Given the description of an element on the screen output the (x, y) to click on. 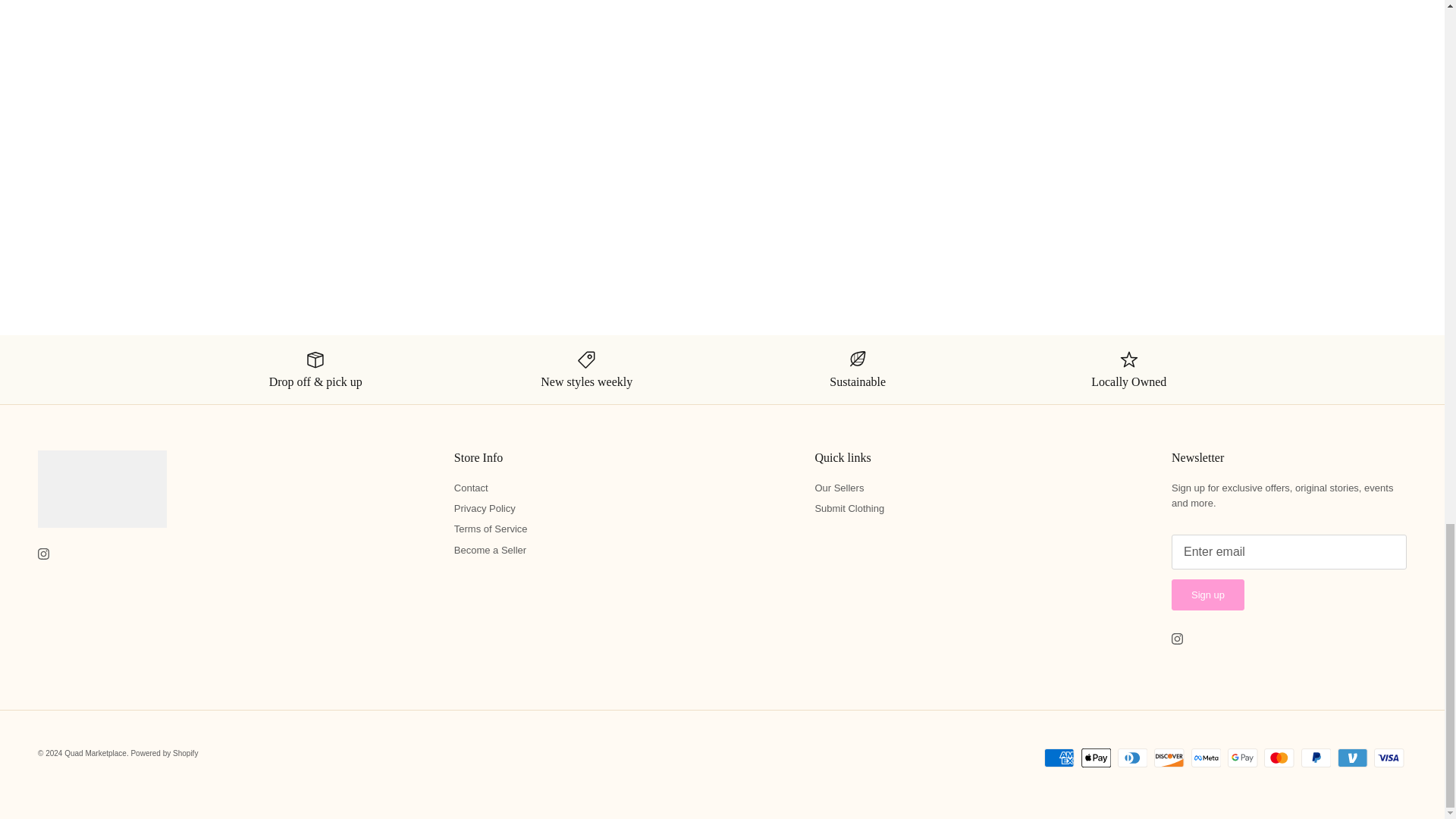
Instagram (43, 553)
Discover (1168, 757)
American Express (1058, 757)
Meta Pay (1206, 757)
Diners Club (1132, 757)
Google Pay (1242, 757)
Apple Pay (1095, 757)
Mastercard (1278, 757)
Instagram (1177, 638)
